Given the description of an element on the screen output the (x, y) to click on. 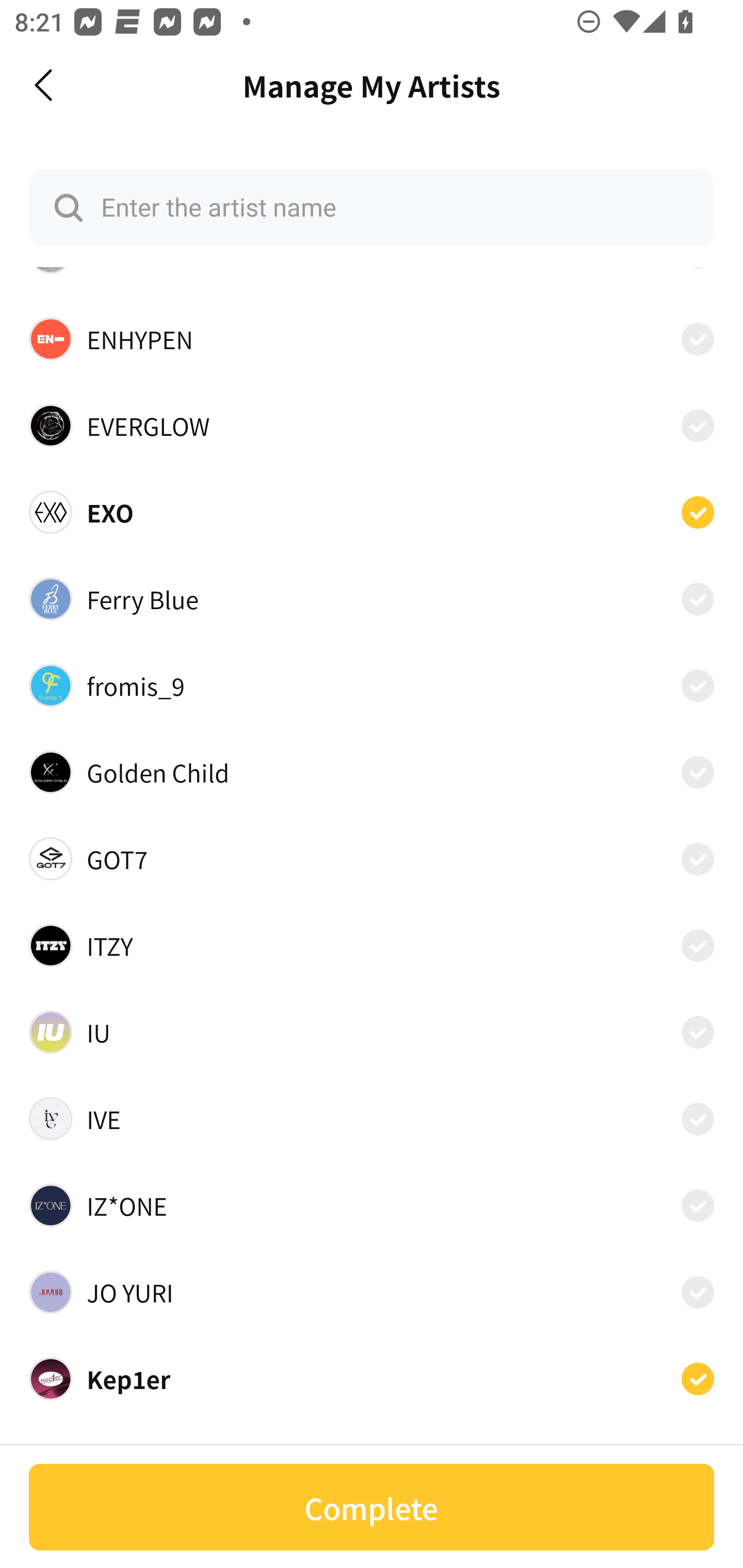
Enter the artist name (371, 207)
ENHYPEN (371, 338)
EVERGLOW (371, 425)
EXO (371, 511)
Ferry Blue (371, 598)
fromis_9 (371, 685)
Golden Child (371, 772)
GOT7 (371, 859)
ITZY (371, 945)
IU (371, 1031)
IVE (371, 1118)
IZ*ONE (371, 1205)
JO YURI (371, 1291)
Kep1er (371, 1378)
Complete (371, 1507)
